Given the description of an element on the screen output the (x, y) to click on. 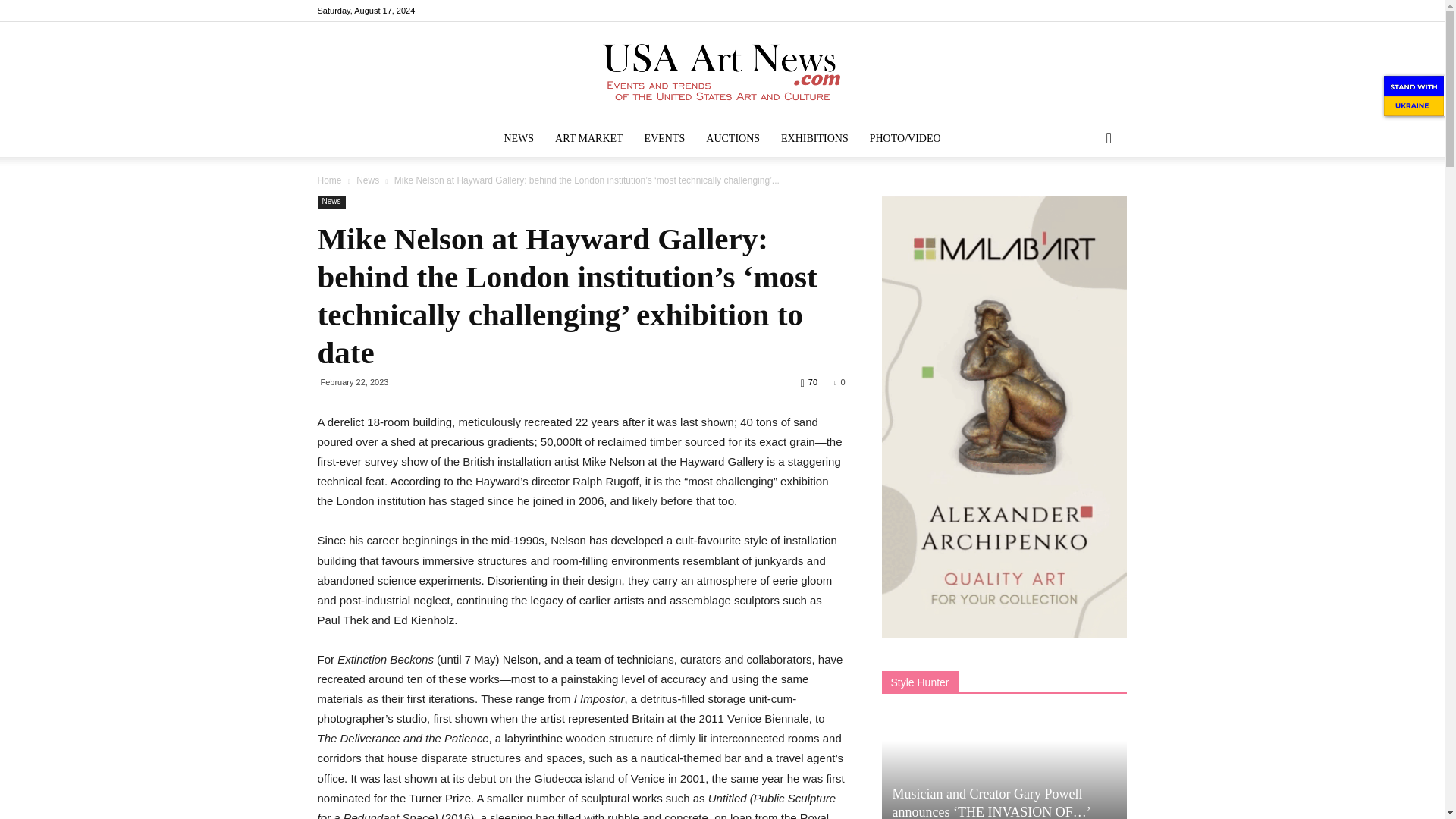
Twitter (1114, 10)
ART MARKET (588, 138)
Facebook (1040, 10)
RSS (1090, 10)
NEWS (518, 138)
EVENTS (664, 138)
Instagram (1065, 10)
